Given the description of an element on the screen output the (x, y) to click on. 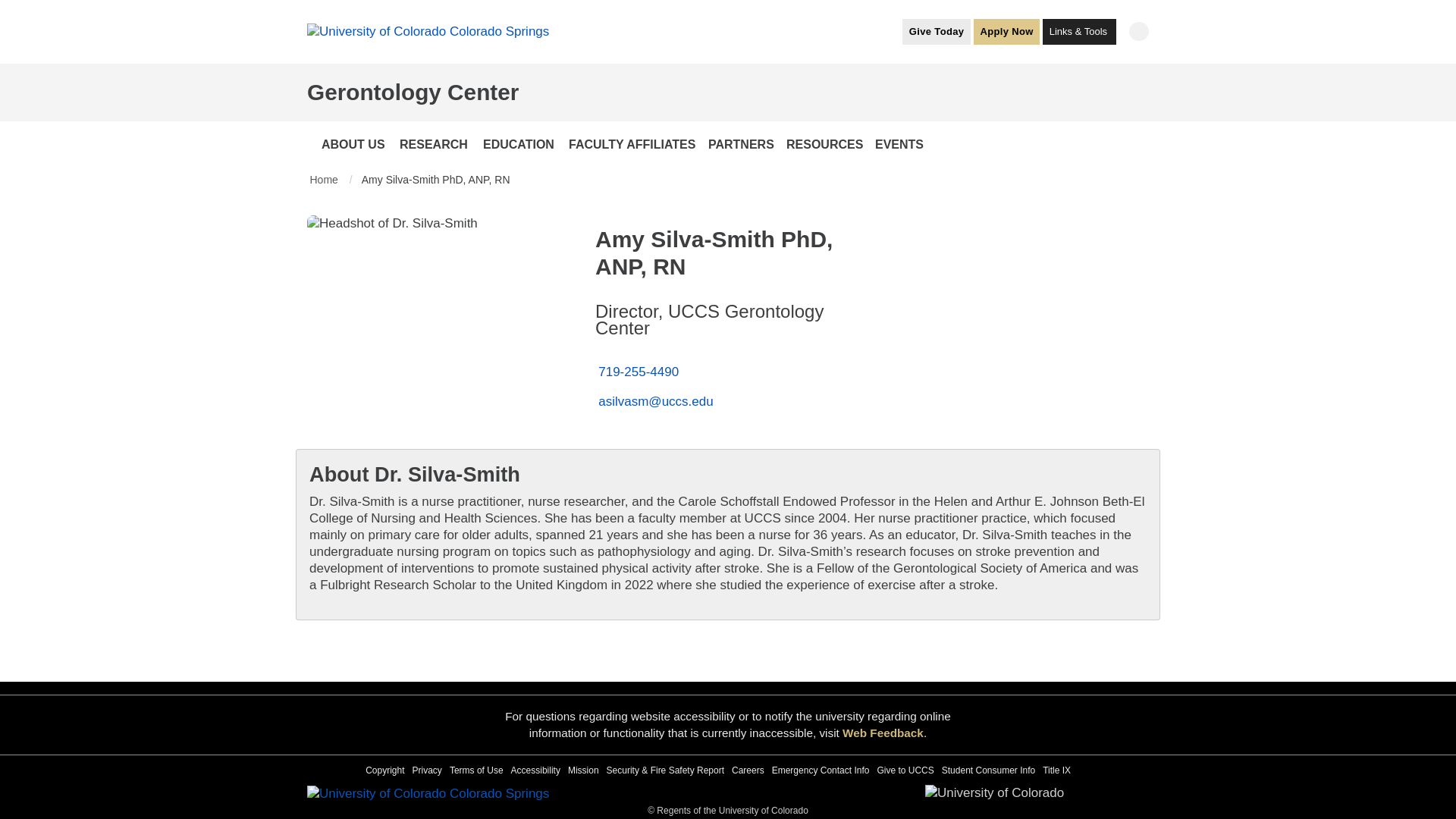
Give Today (936, 31)
Gerontology Center Home (412, 91)
Gerontology Center (412, 91)
UCCS Home (427, 30)
ABOUT US (354, 144)
Apply Now (1006, 31)
